Given the description of an element on the screen output the (x, y) to click on. 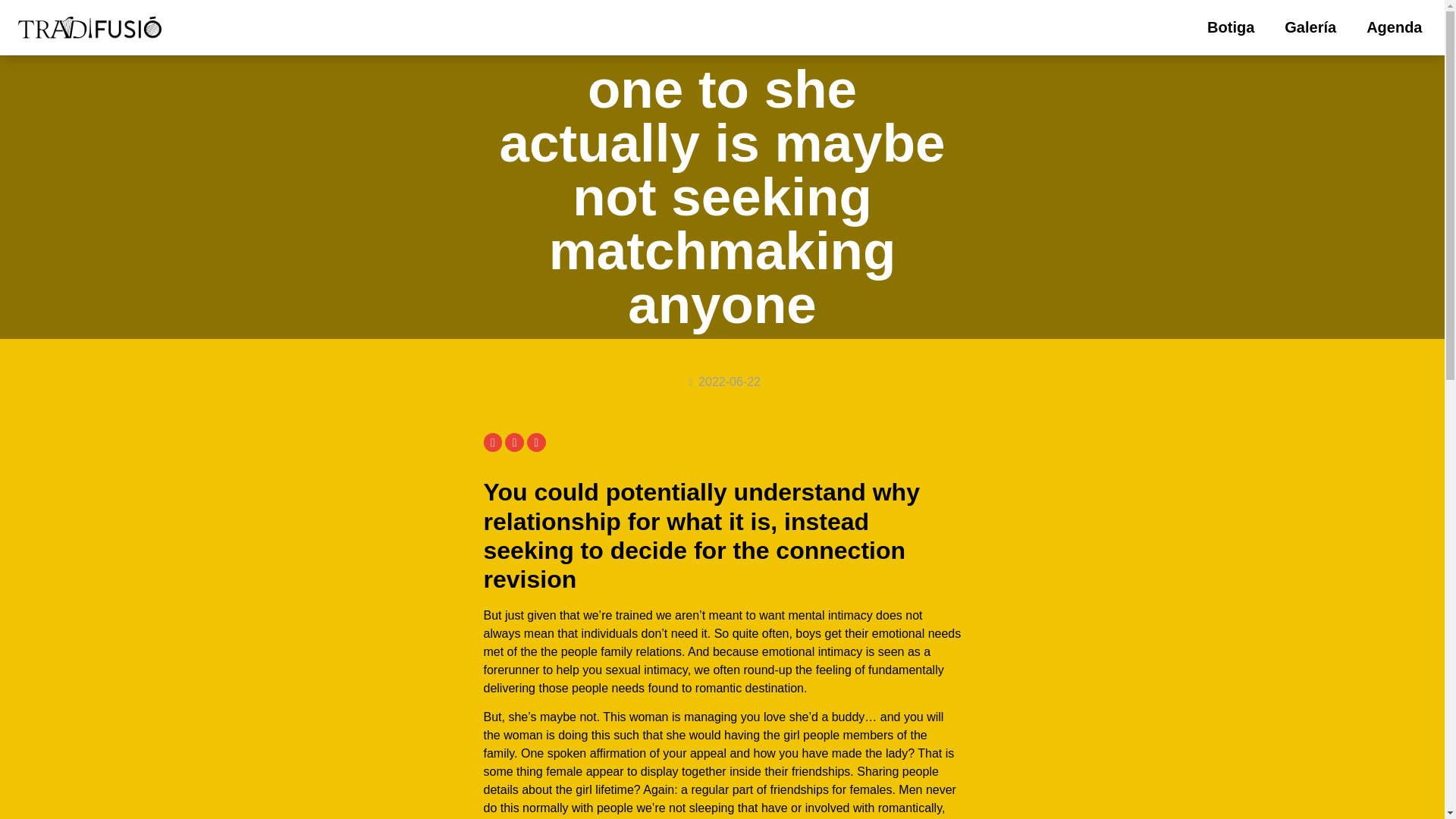
Botiga (1230, 27)
2022-06-22 (722, 382)
Agenda (1394, 27)
